Given the description of an element on the screen output the (x, y) to click on. 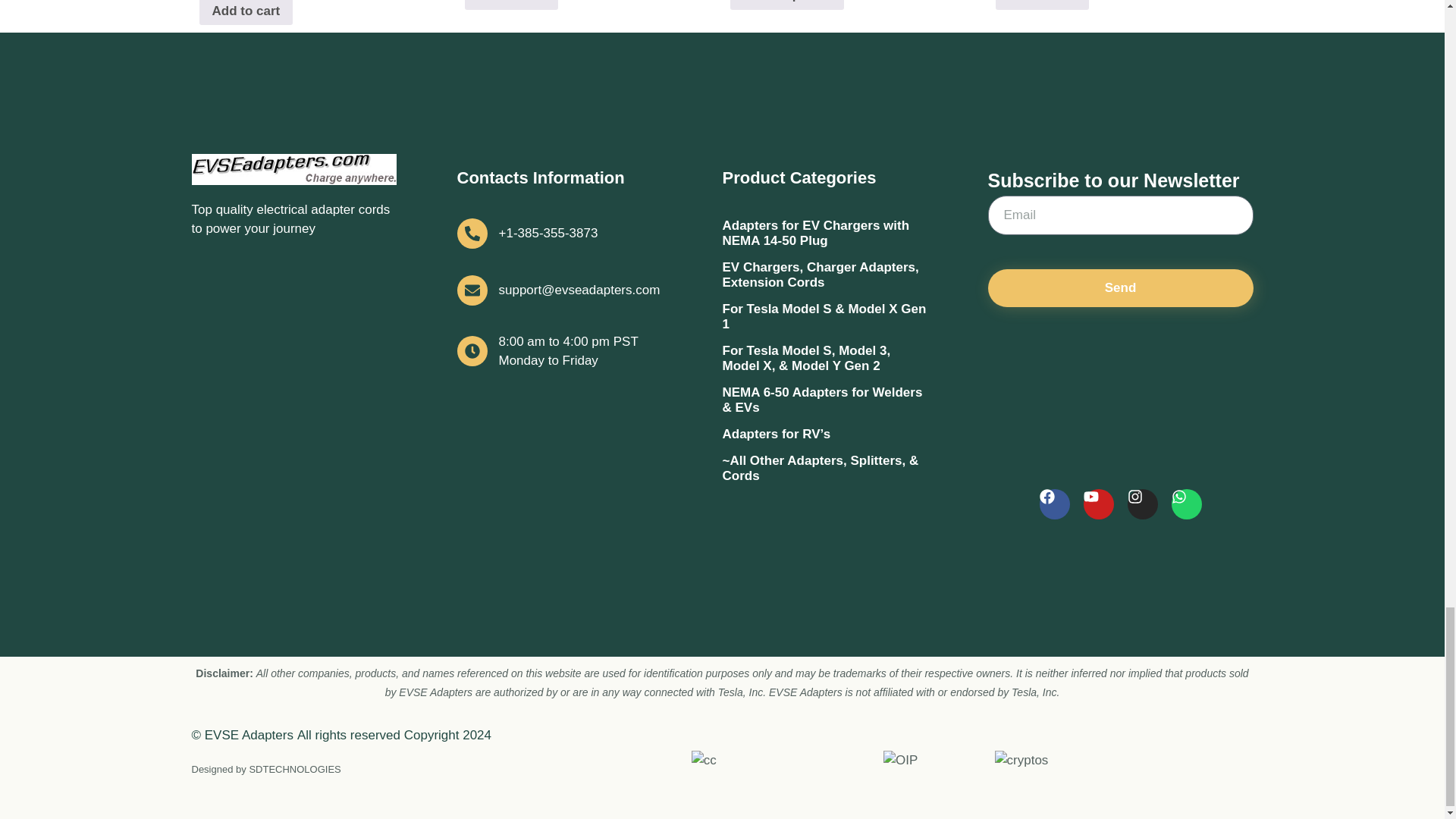
Add to cart (510, 4)
OIP (900, 760)
cryptos (1021, 760)
Add to cart (245, 12)
cc (703, 760)
